Given the description of an element on the screen output the (x, y) to click on. 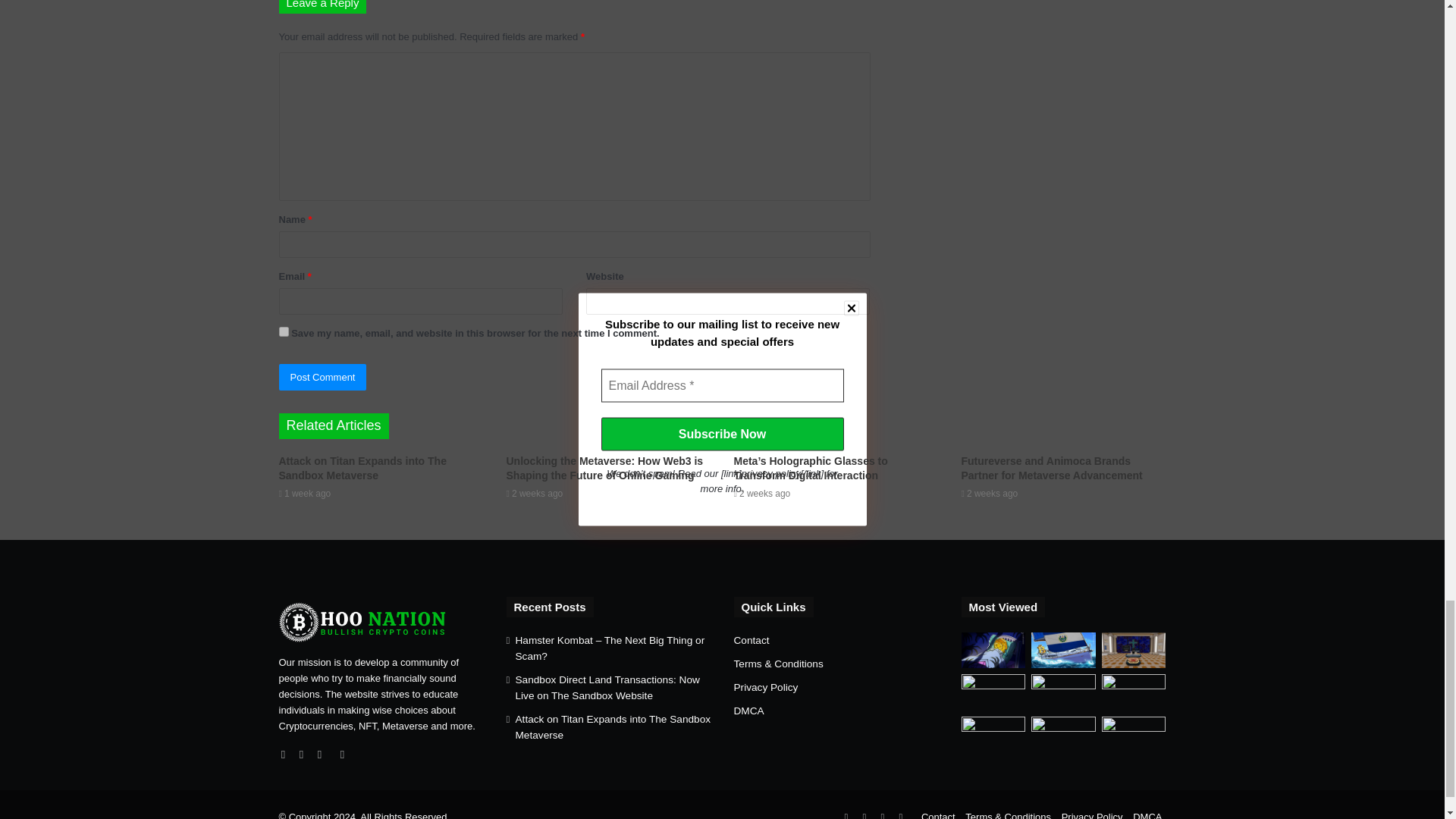
Post Comment (322, 376)
yes (283, 331)
